Given the description of an element on the screen output the (x, y) to click on. 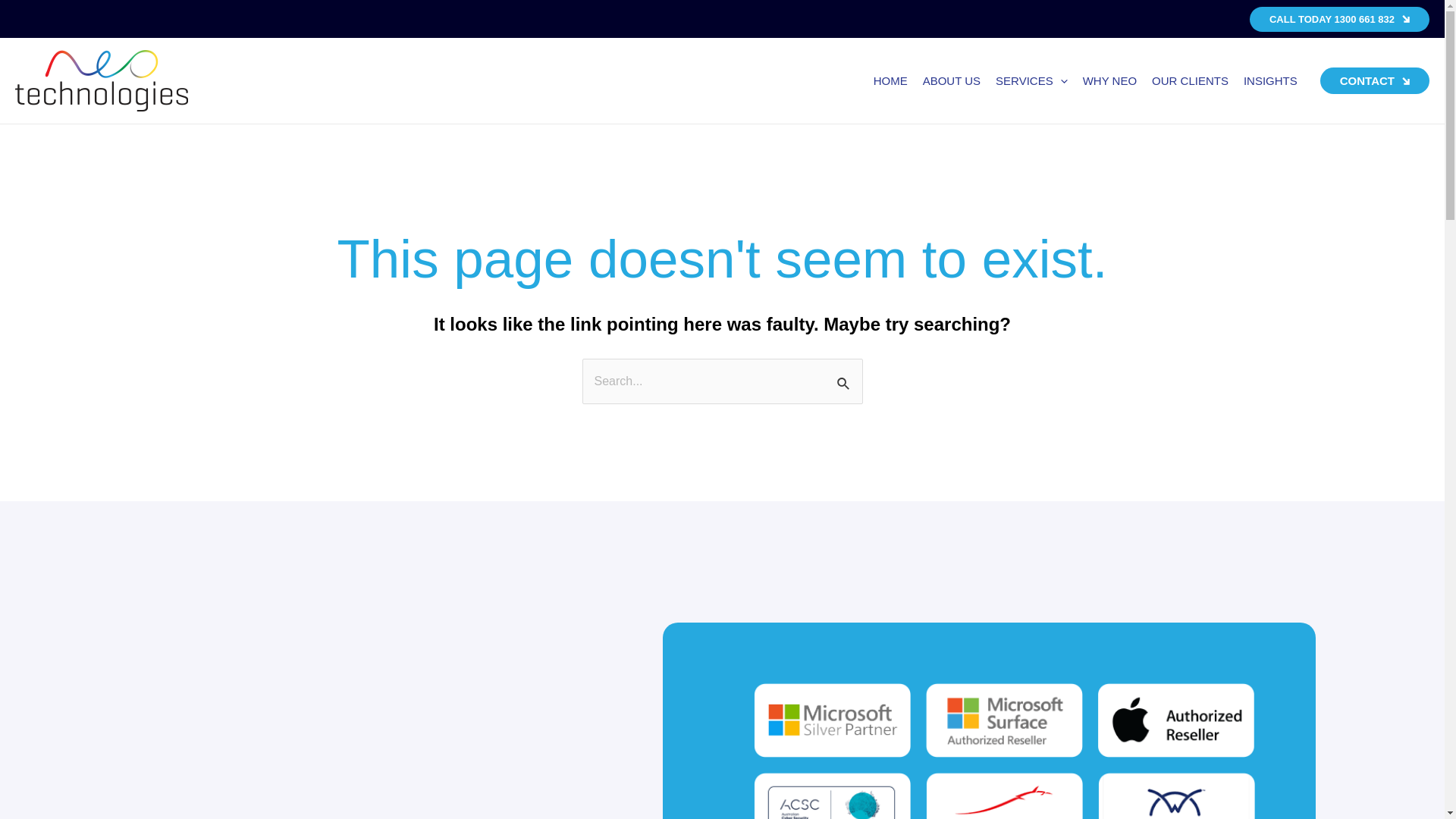
CALL TODAY 1300 661 832 Element type: text (1339, 18)
CONTACT Element type: text (1374, 80)
INSIGHTS Element type: text (1270, 80)
SERVICES Element type: text (1031, 80)
WHY NEO Element type: text (1109, 80)
Search Element type: text (845, 375)
ABOUT US Element type: text (951, 80)
OUR CLIENTS Element type: text (1190, 80)
HOME Element type: text (890, 80)
